Given the description of an element on the screen output the (x, y) to click on. 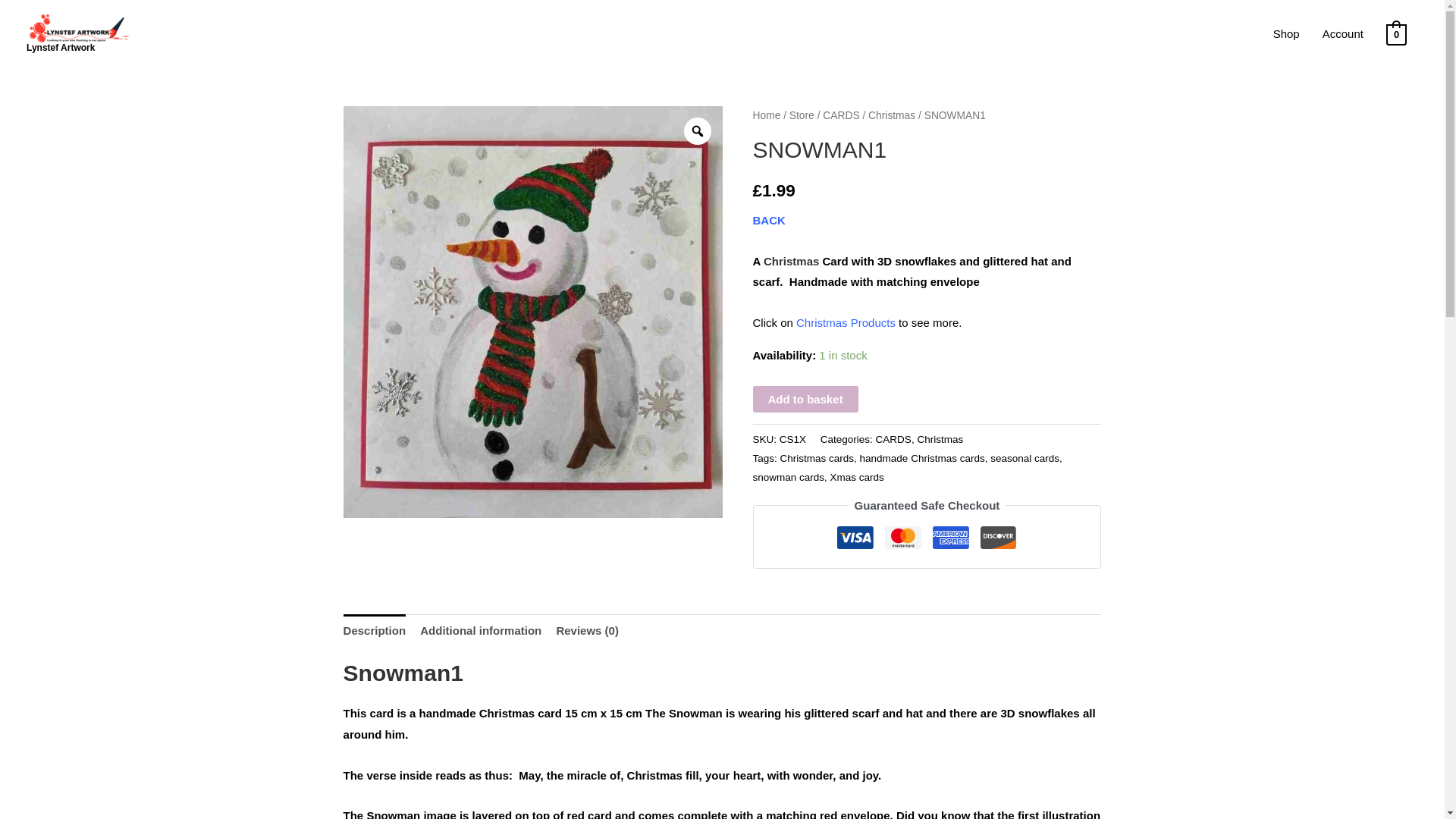
Account (1342, 33)
Description (374, 630)
Xmas cards (856, 477)
Christmas cards (817, 458)
Lynstef Artwork (60, 47)
CARDS (893, 439)
Shop (1286, 33)
Additional information (480, 630)
snowman cards (788, 477)
